Given the description of an element on the screen output the (x, y) to click on. 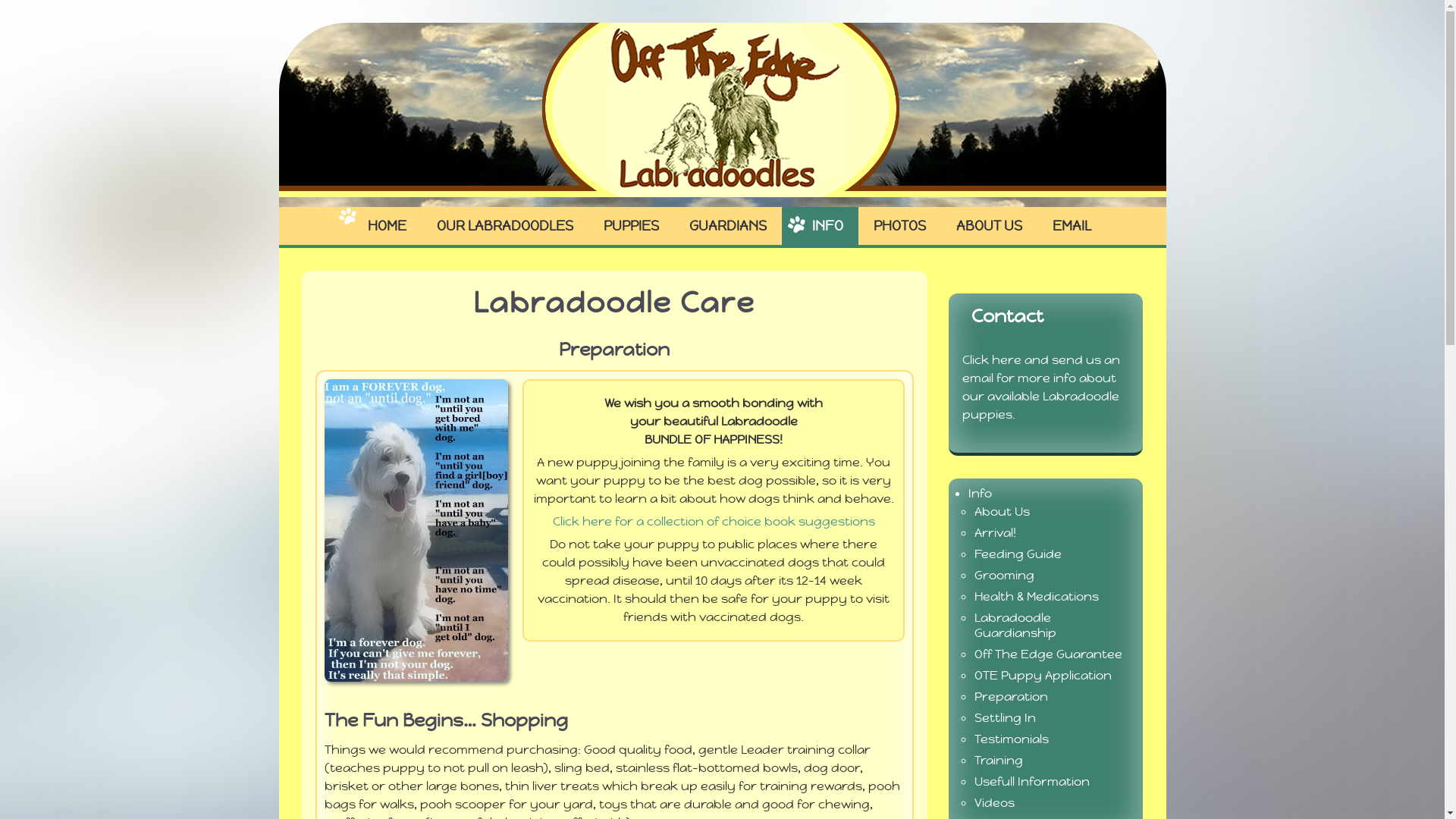
OTE Puppy Application Element type: text (1042, 675)
PUPPIES Element type: text (631, 225)
Settling In Element type: text (1004, 717)
PHOTOS Element type: text (899, 225)
ABOUT US Element type: text (988, 225)
OUR LABRADOODLES Element type: text (504, 225)
INFO Element type: text (819, 225)
Feeding Guide Element type: text (1017, 553)
Health & Medications Element type: text (1036, 596)
Arrival! Element type: text (995, 532)
Usefull Information Element type: text (1031, 781)
About Us Element type: text (1001, 511)
Labradoodle Guardianship Element type: text (1015, 624)
GUARDIANS Element type: text (727, 225)
Training Element type: text (998, 760)
EMAIL Element type: text (1071, 225)
Grooming Element type: text (1004, 575)
Testimonials Element type: text (1011, 738)
Videos Element type: text (994, 802)
Preparation Element type: text (1011, 696)
Off The Edge Guarantee Element type: text (1048, 654)
Click here for a collection of choice book suggestions Element type: text (713, 521)
HOME Element type: text (378, 225)
